Given the description of an element on the screen output the (x, y) to click on. 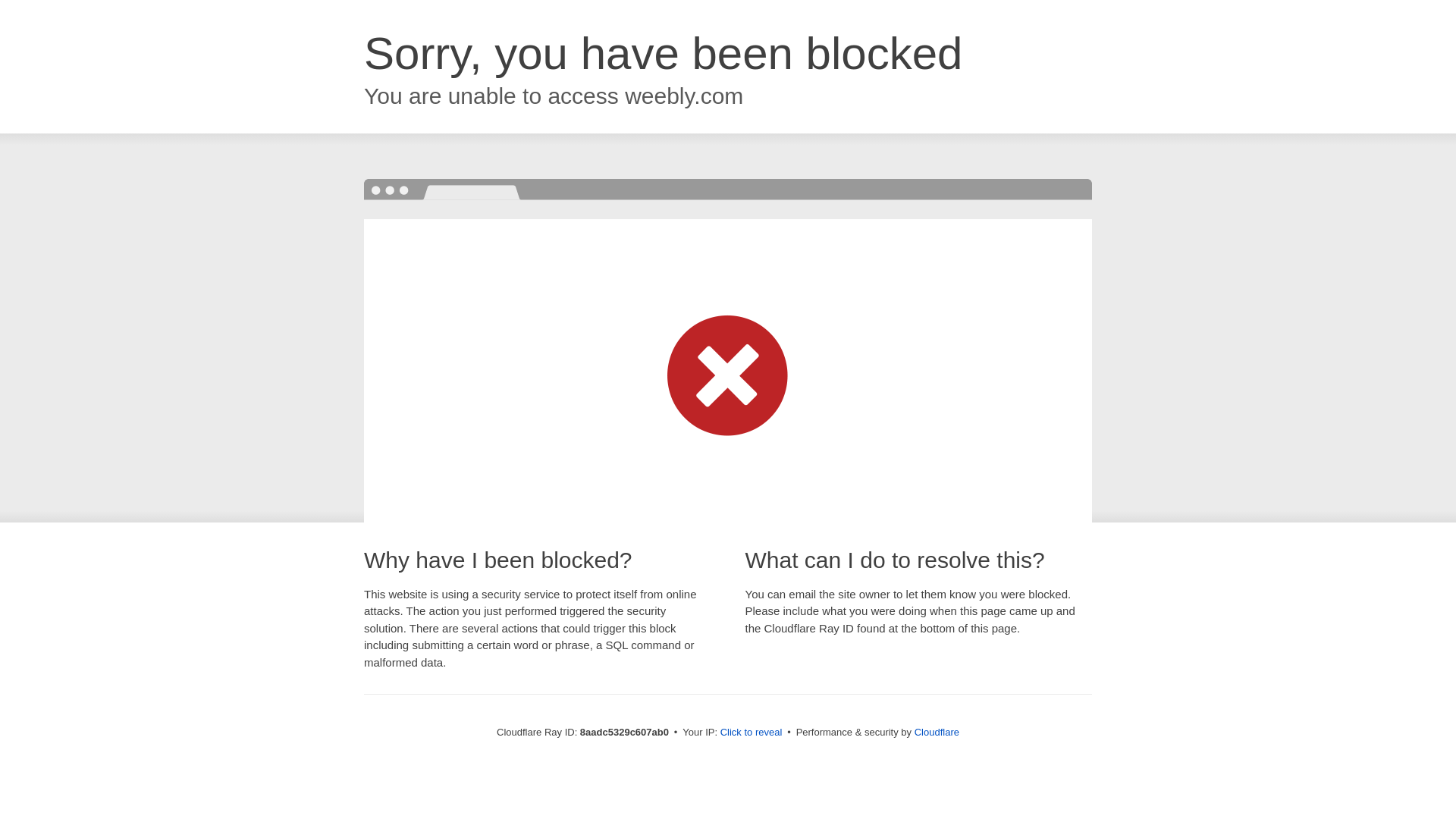
Click to reveal (751, 732)
Cloudflare (936, 731)
